Given the description of an element on the screen output the (x, y) to click on. 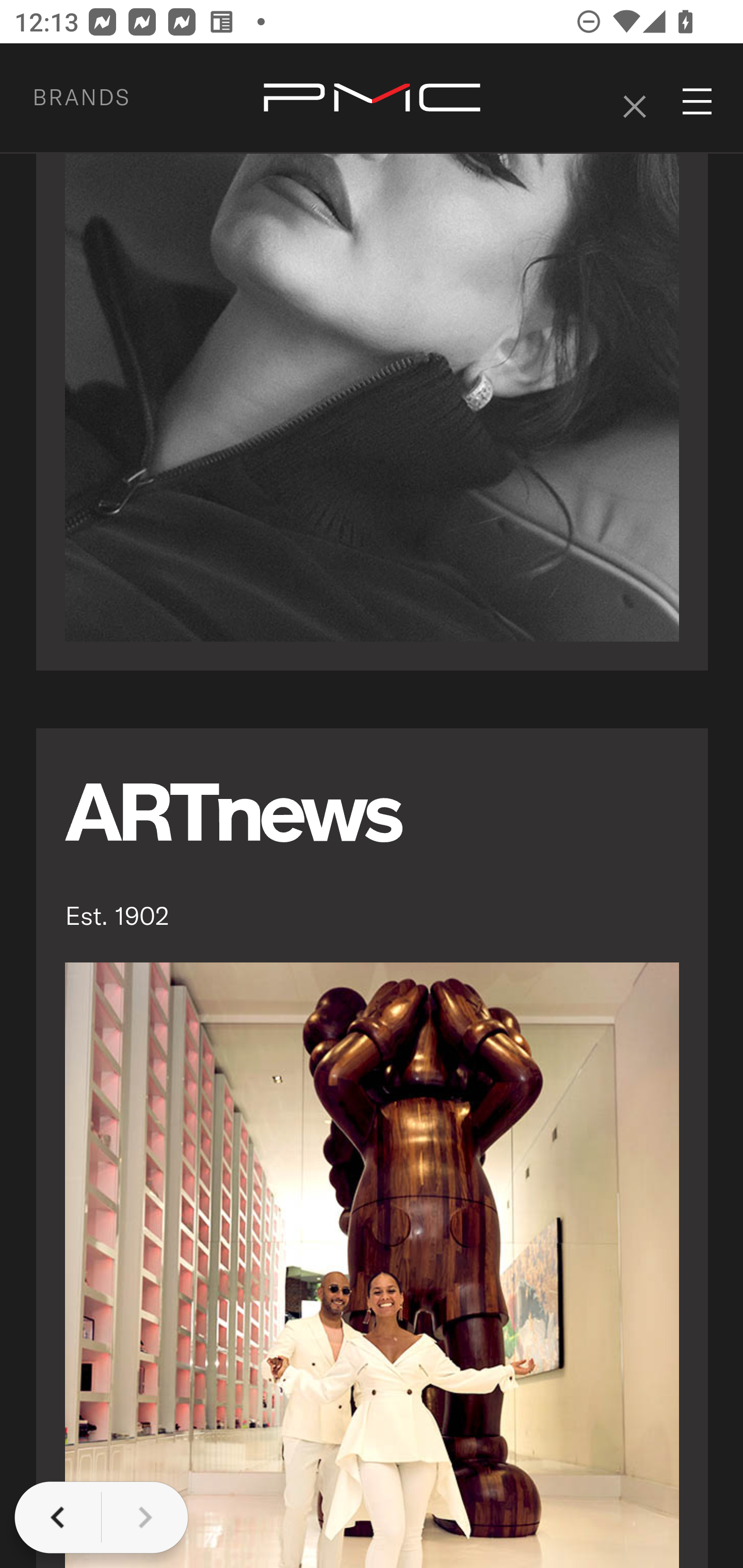
Est. 1894 (372, 357)
home (371, 98)
BRANDS (105, 96)
# (633, 99)
menu (697, 101)
Est. 1902 Est. 1902 (372, 1147)
